Given the description of an element on the screen output the (x, y) to click on. 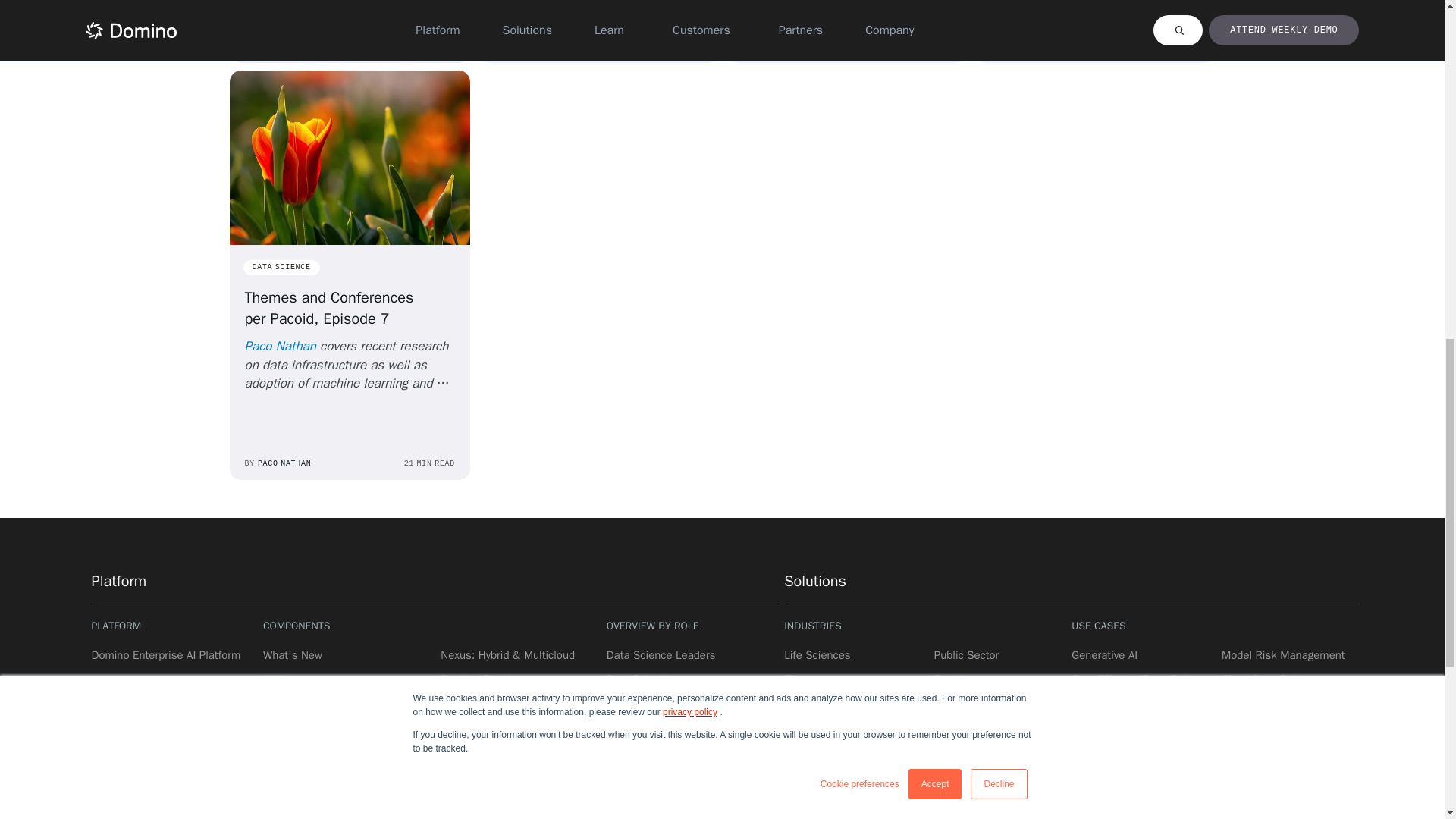
What's New (277, 464)
Paco Nathan (292, 655)
Domino Enterprise AI Platform (1015, 46)
Themes and Conferences per Pacoid, Episode 7 (279, 345)
